Given the description of an element on the screen output the (x, y) to click on. 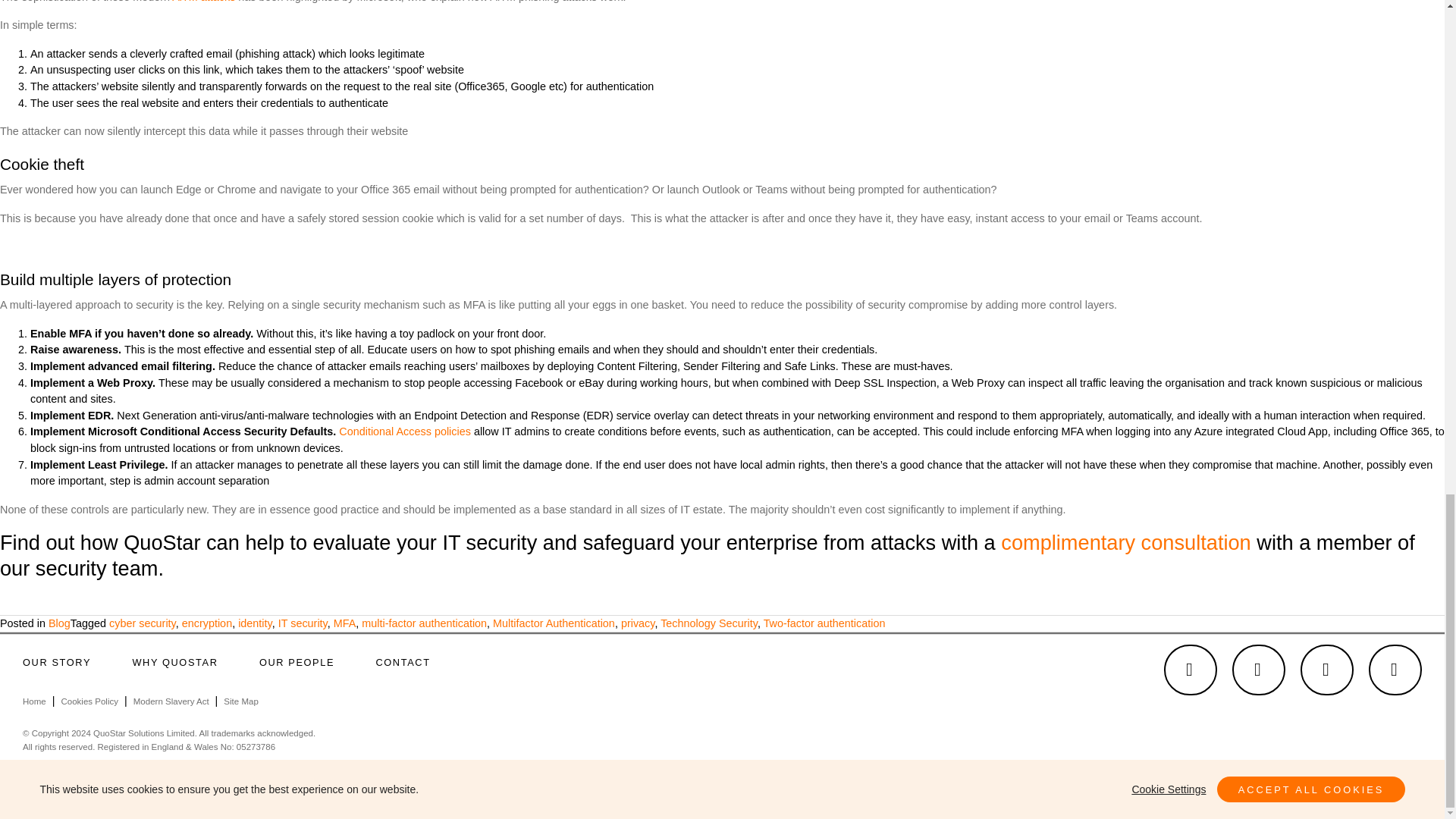
Our People (296, 662)
Contact (402, 662)
Why QuoStar (175, 662)
Our Story (67, 662)
